Given the description of an element on the screen output the (x, y) to click on. 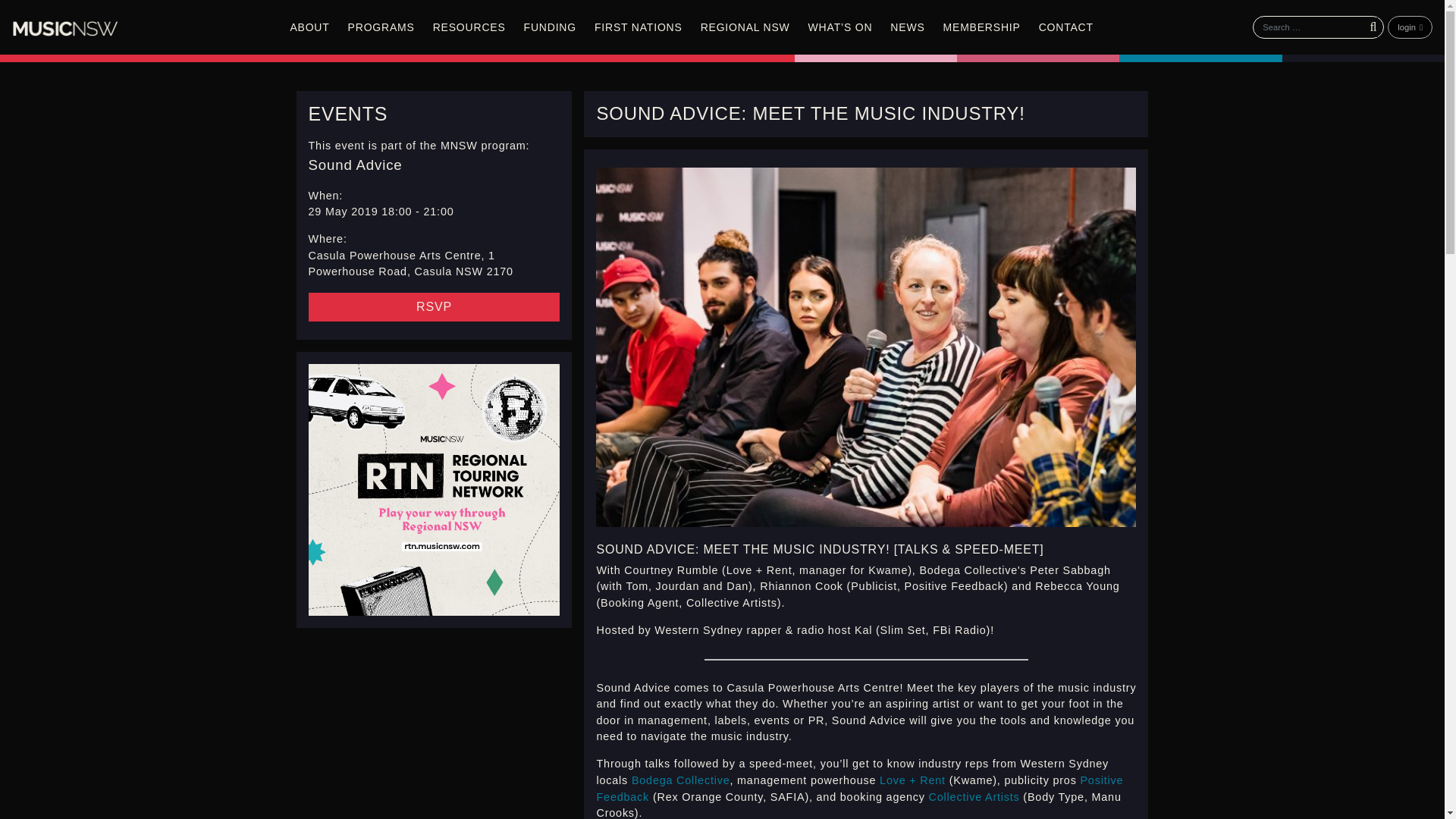
Programs (381, 27)
FUNDING (550, 27)
Membership (981, 27)
News (906, 27)
RSVP (433, 306)
RESOURCES (469, 27)
REGIONAL NSW (745, 27)
EVENTS (347, 113)
What's On (840, 27)
Positive Feedback (858, 788)
ABOUT (309, 27)
Regional NSW (745, 27)
Contact (1065, 27)
login (1409, 27)
Collective Artists (974, 797)
